Given the description of an element on the screen output the (x, y) to click on. 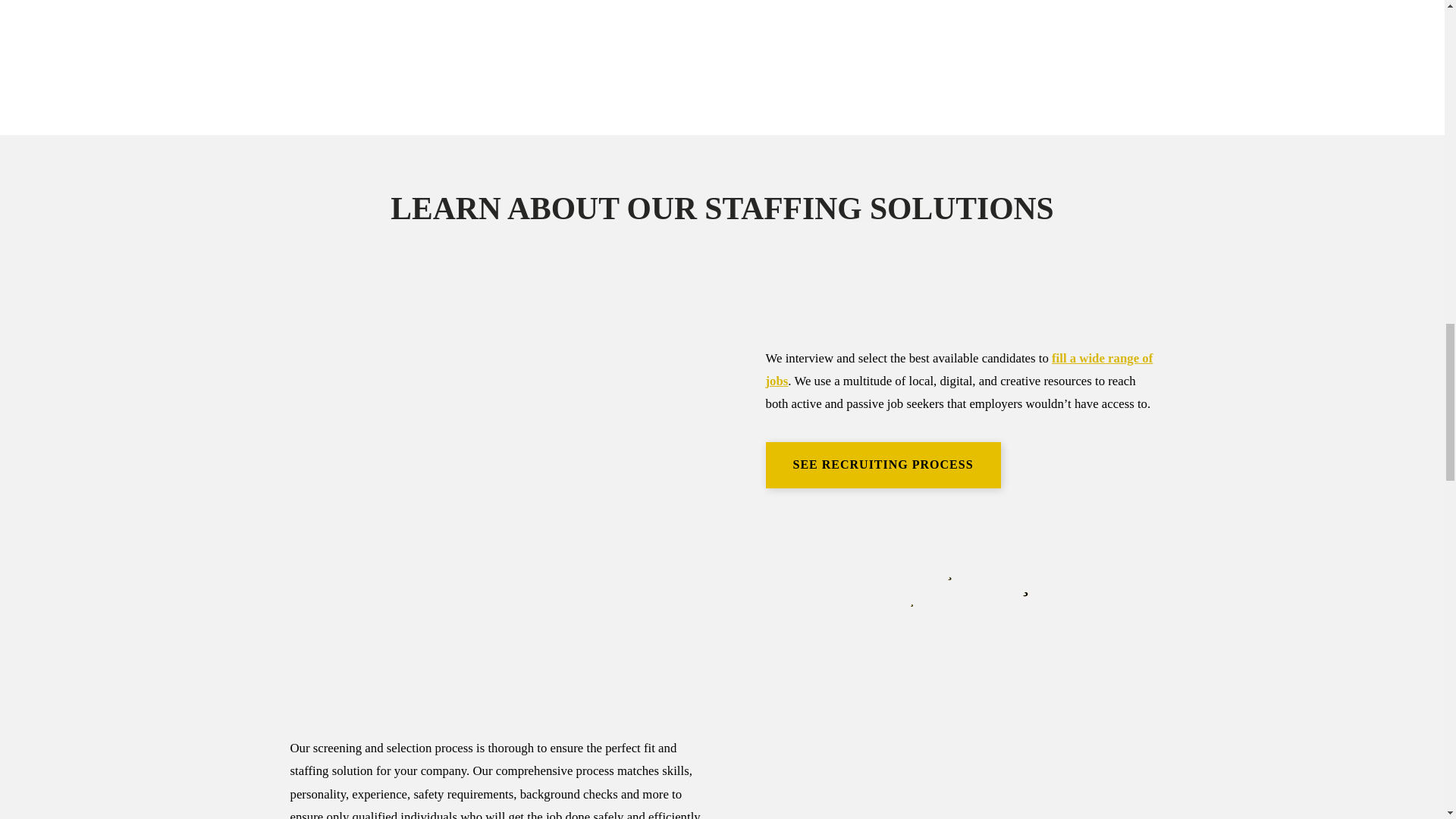
Form 0 (683, 48)
